Given the description of an element on the screen output the (x, y) to click on. 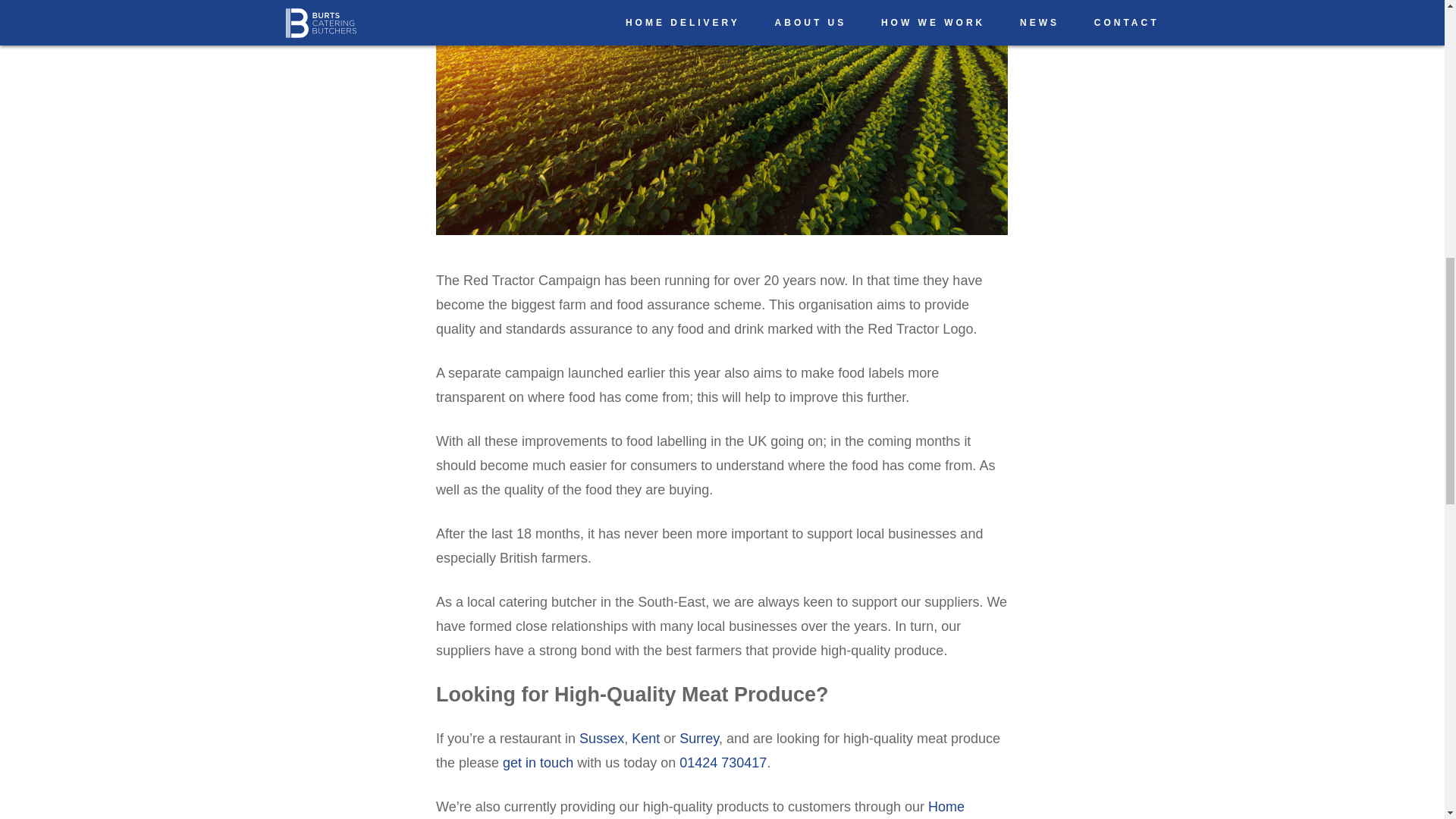
get in touch (537, 762)
Surrey (699, 738)
Sussex (601, 738)
01424 730417 (723, 762)
Kent (647, 738)
Home Delivery Service (699, 809)
